Given the description of an element on the screen output the (x, y) to click on. 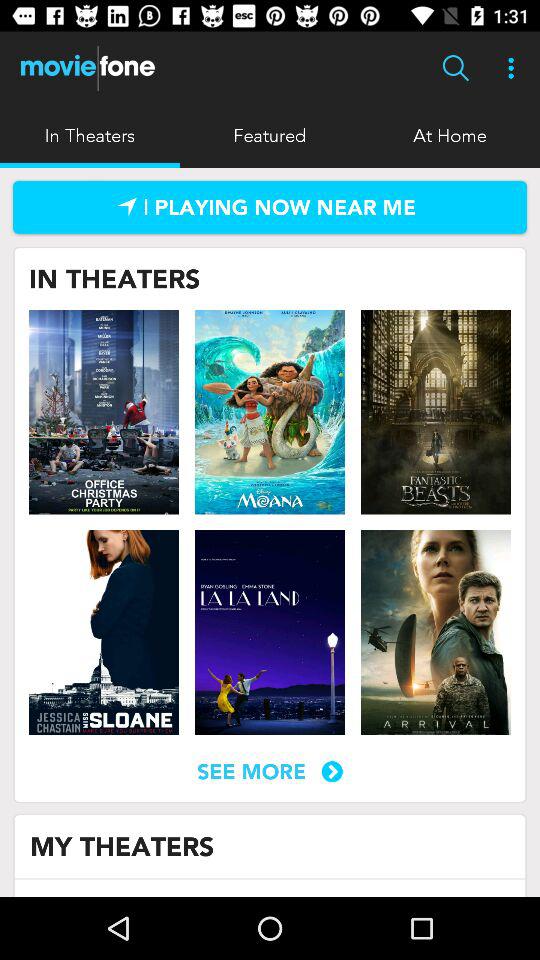
turn off the my theaters icon (122, 846)
